Given the description of an element on the screen output the (x, y) to click on. 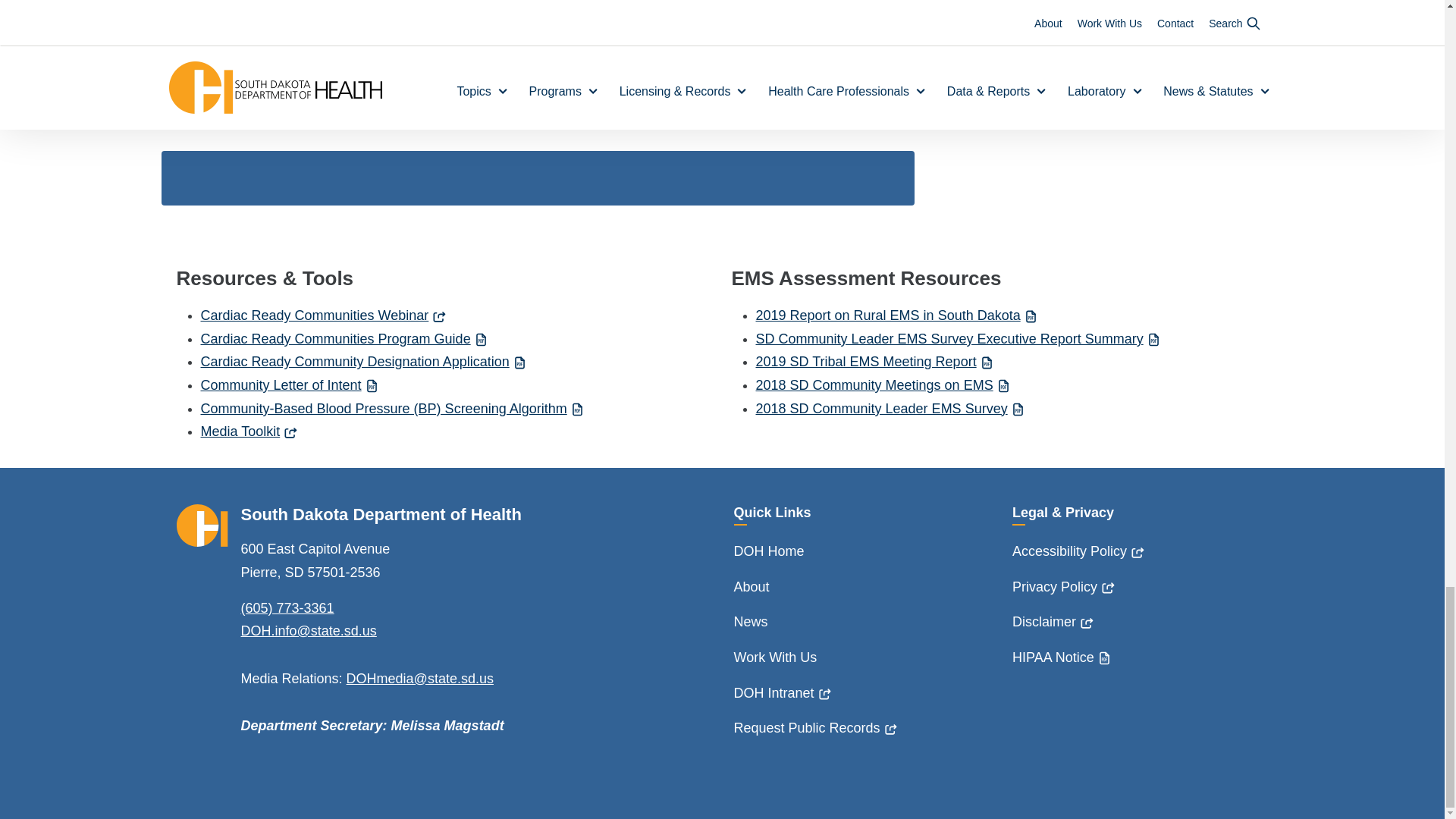
2019 SD Tribal EMS Meeting Report (874, 361)
2019 Report on Rural EMS in SD (896, 314)
Community-Based Blood Pressure Screening Algorithm (392, 408)
2018 SD Community Meetings on EMS (882, 385)
CRC Media Toolkit (248, 431)
Letter Of Intent (289, 385)
Cardiac Ready Community Designation Program Guide (343, 338)
SD Cardiac Ready Community Designation APPLICATION (363, 361)
SD Community Leader EMS Survey Executive Report Summary (957, 338)
